Given the description of an element on the screen output the (x, y) to click on. 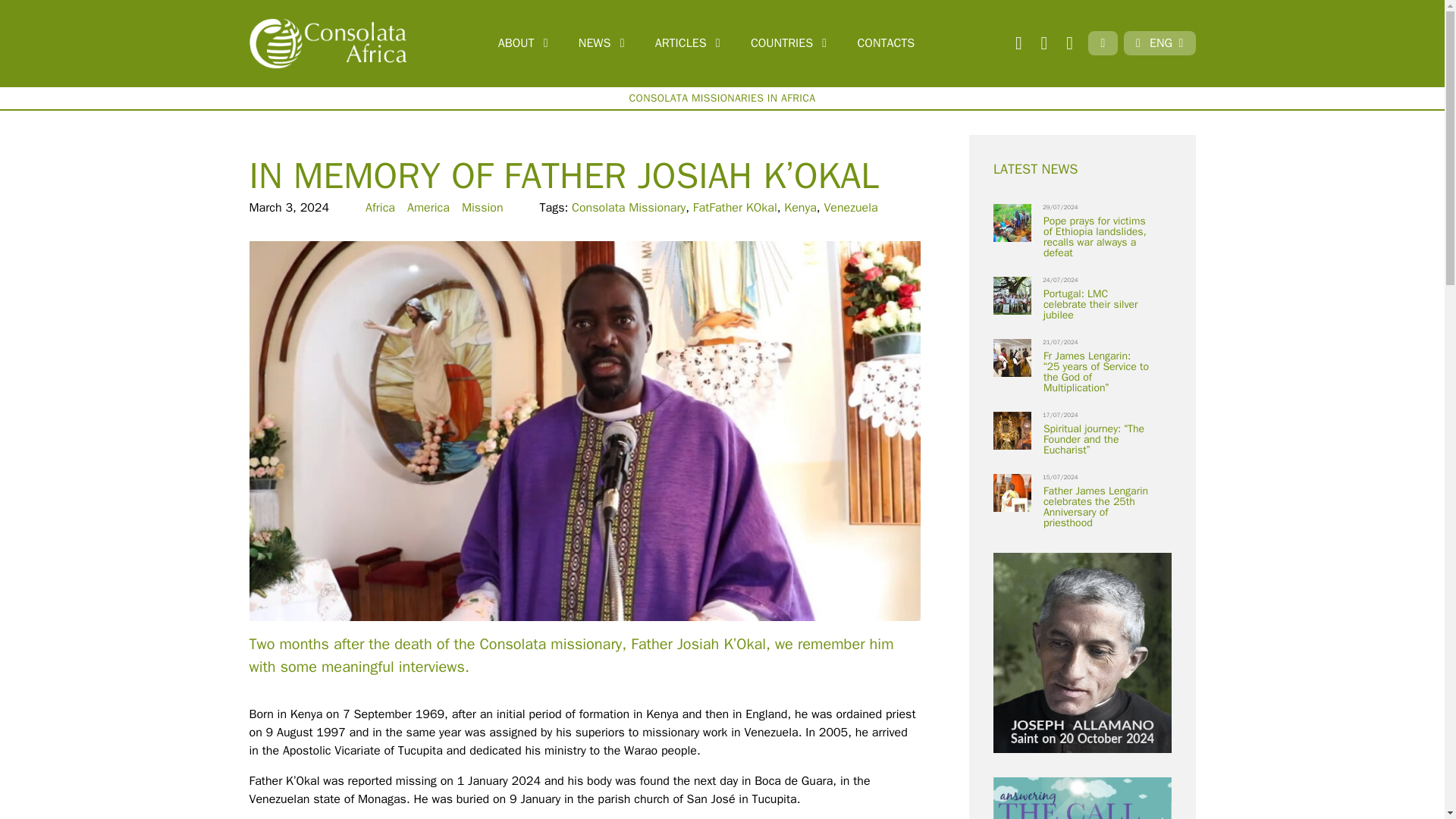
Mission (482, 207)
CONTACTS (885, 42)
ABOUT (526, 42)
COUNTRIES (792, 42)
NEWS (604, 42)
Africa (379, 207)
ARTICLES (690, 42)
America (428, 207)
